Given the description of an element on the screen output the (x, y) to click on. 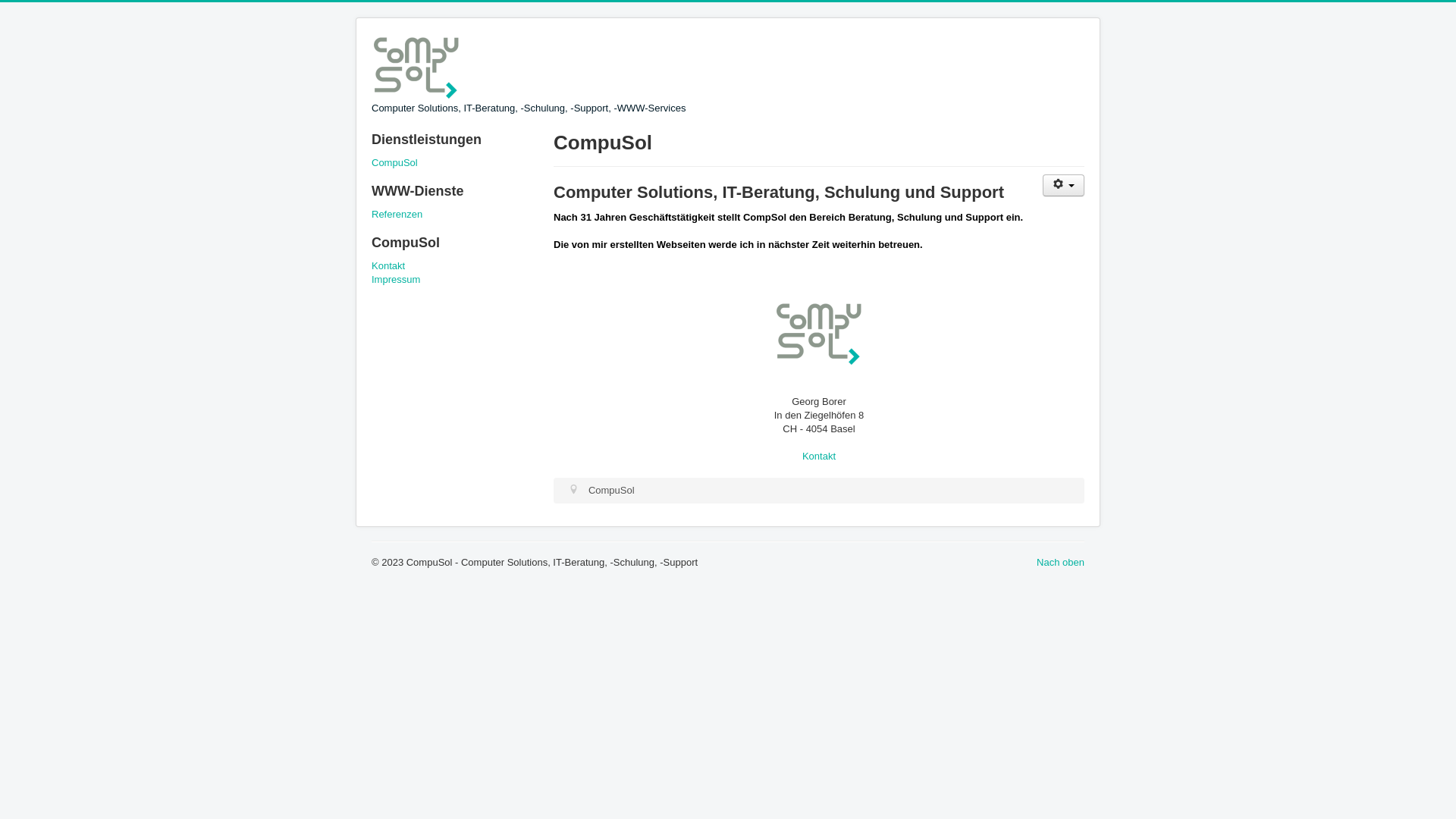
CompuSol Element type: text (454, 162)
Impressum Element type: text (454, 279)
Referenzen Element type: text (454, 214)
Nach oben Element type: text (1060, 561)
Kontakt Element type: text (454, 266)
Kontakt Element type: text (818, 455)
